Given the description of an element on the screen output the (x, y) to click on. 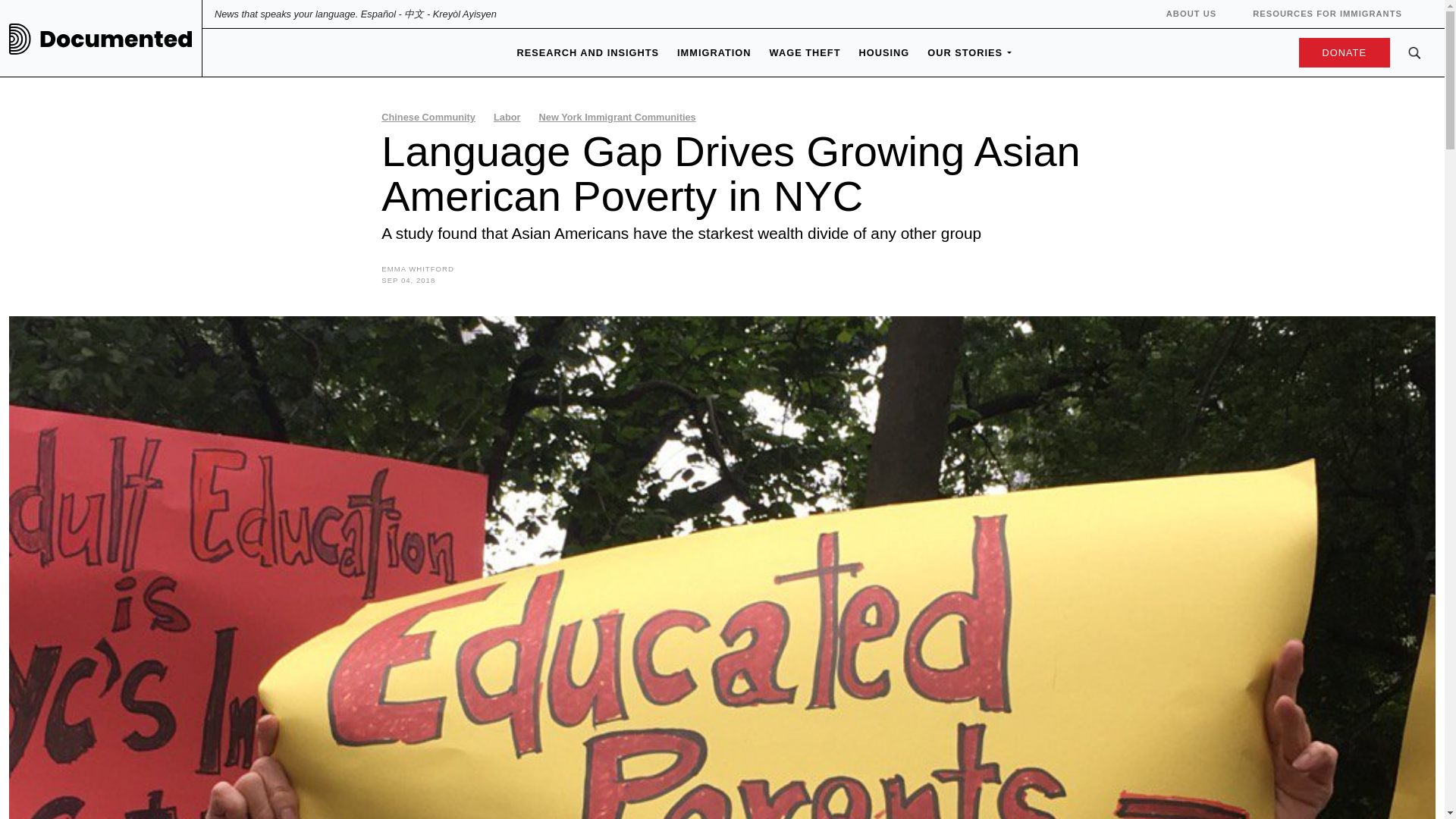
DONATE (1340, 52)
ABOUT US (1190, 13)
IMMIGRATION (714, 52)
HOUSING (883, 52)
RESOURCES FOR IMMIGRANTS (1327, 13)
OUR STORIES (965, 52)
RESEARCH AND INSIGHTS (587, 52)
WAGE THEFT (805, 52)
